Given the description of an element on the screen output the (x, y) to click on. 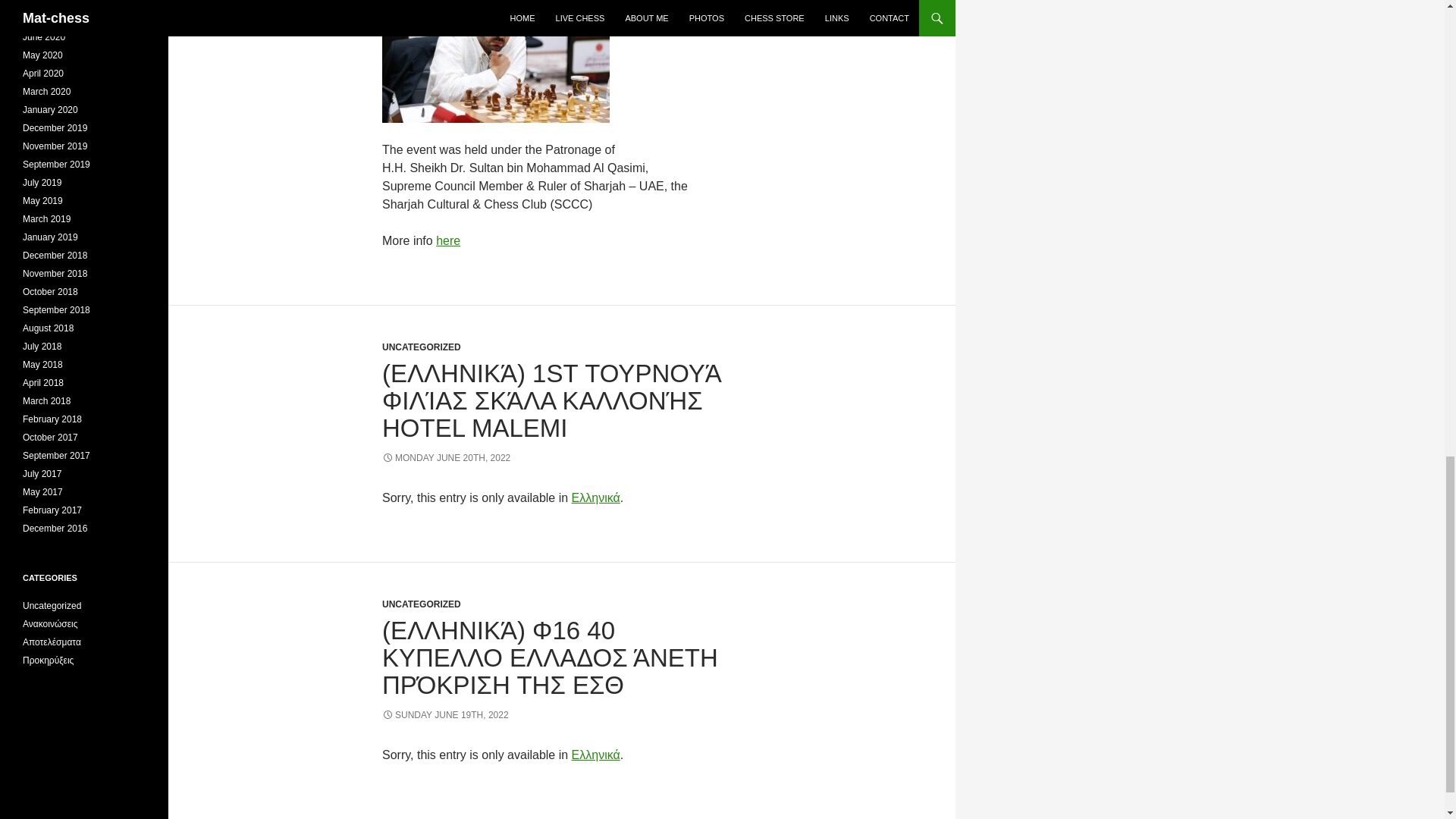
UNCATEGORIZED (421, 347)
here (447, 240)
MONDAY JUNE 20TH, 2022 (446, 457)
UNCATEGORIZED (421, 603)
SUNDAY JUNE 19TH, 2022 (444, 715)
